Given the description of an element on the screen output the (x, y) to click on. 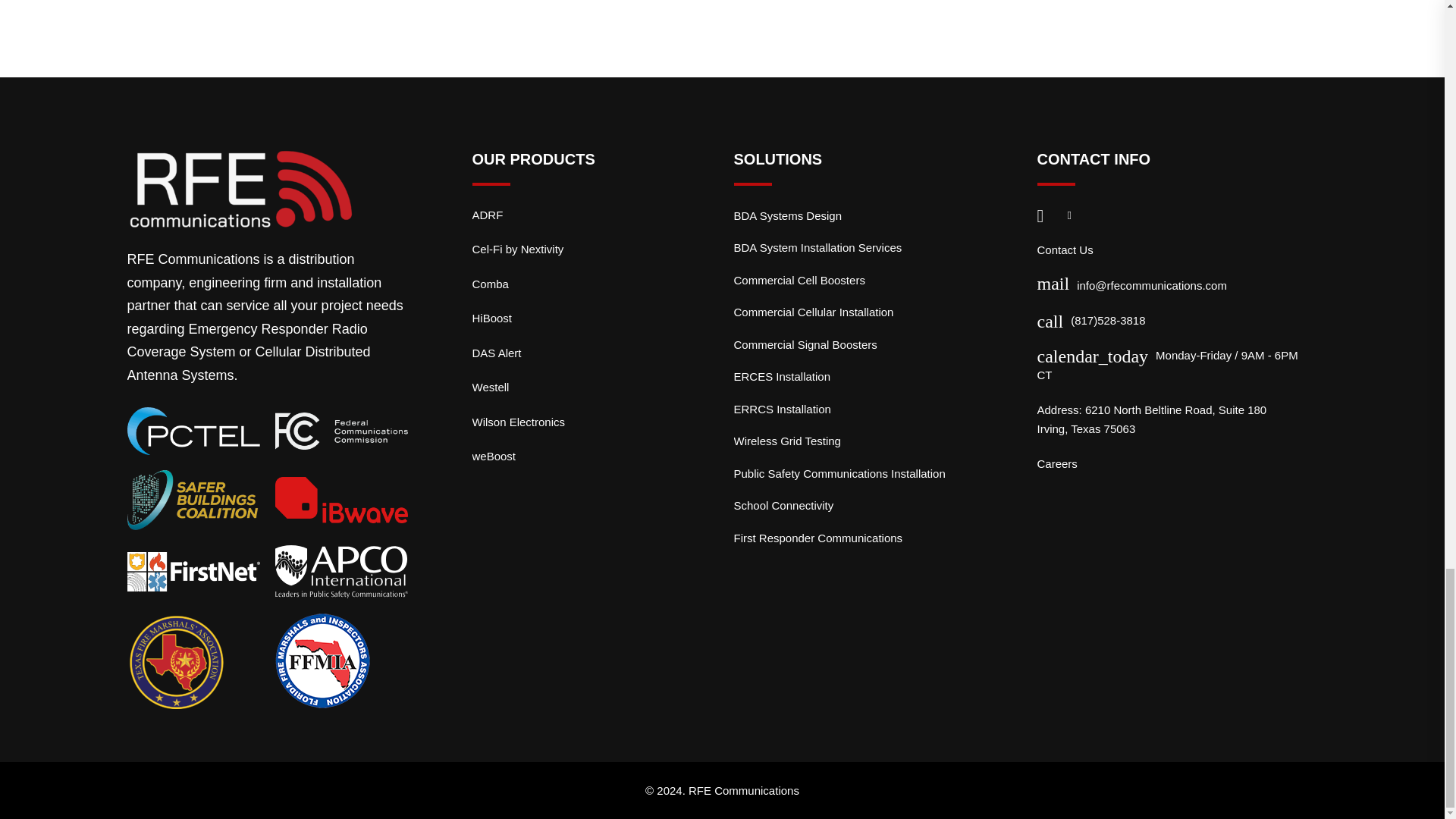
TXFMA (176, 661)
APCO logo (341, 571)
SBC logo (194, 500)
FirstNet logo (194, 571)
FFMIA (322, 660)
FCC logo (341, 430)
iBwave logo (341, 499)
PCTEL logo (194, 431)
